Given the description of an element on the screen output the (x, y) to click on. 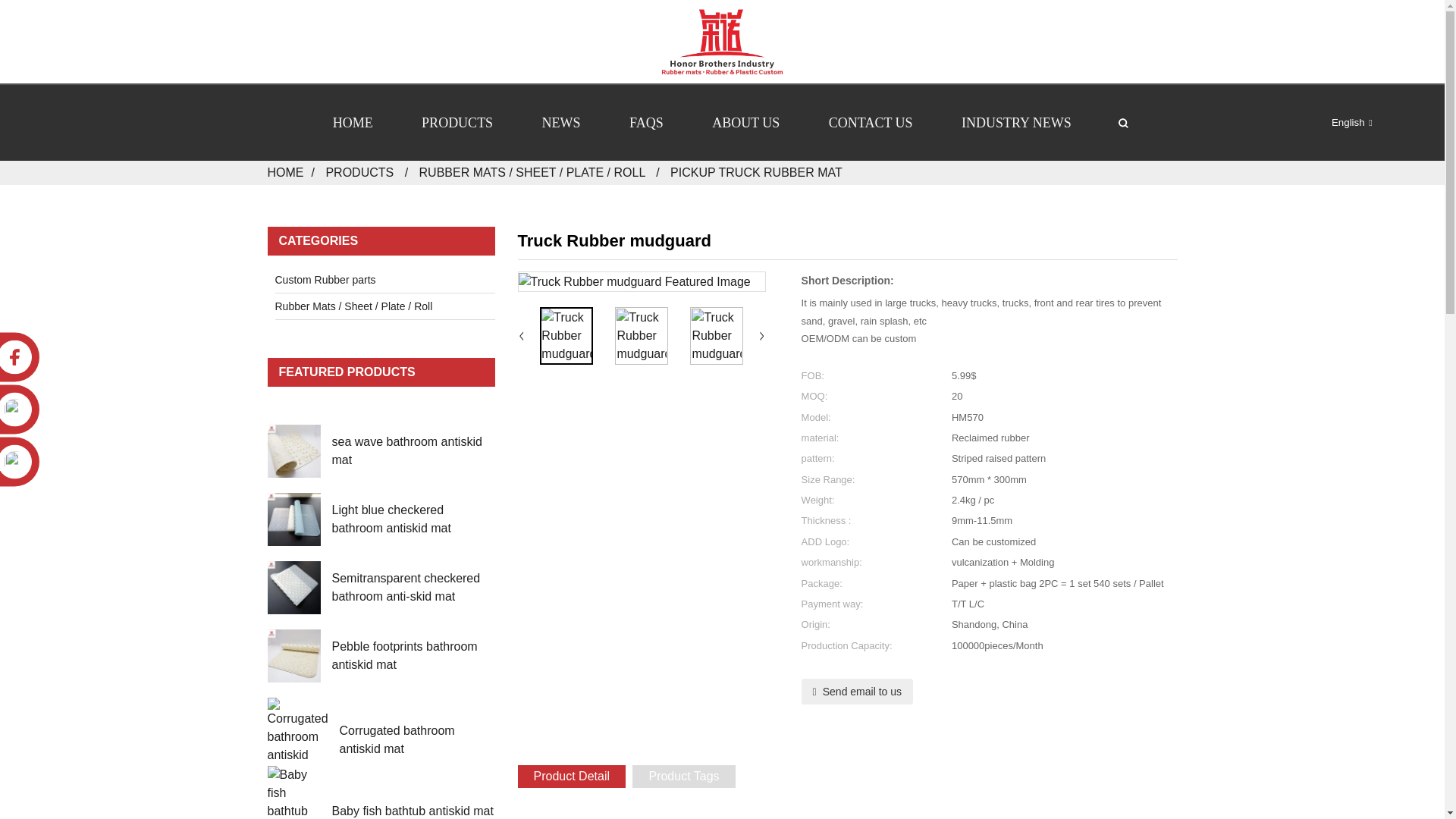
PRODUCTS (456, 122)
INDUSTRY NEWS (1016, 122)
CONTACT US (871, 122)
HOME (284, 172)
PICKUP TRUCK RUBBER MAT (756, 172)
English (1339, 122)
ABOUT US (745, 122)
Pickup truck rubber mat (756, 172)
PRODUCTS (358, 172)
HOME (353, 122)
Products (358, 172)
FAQS (646, 122)
Custom Rubber parts (370, 279)
NEWS (561, 122)
